Given the description of an element on the screen output the (x, y) to click on. 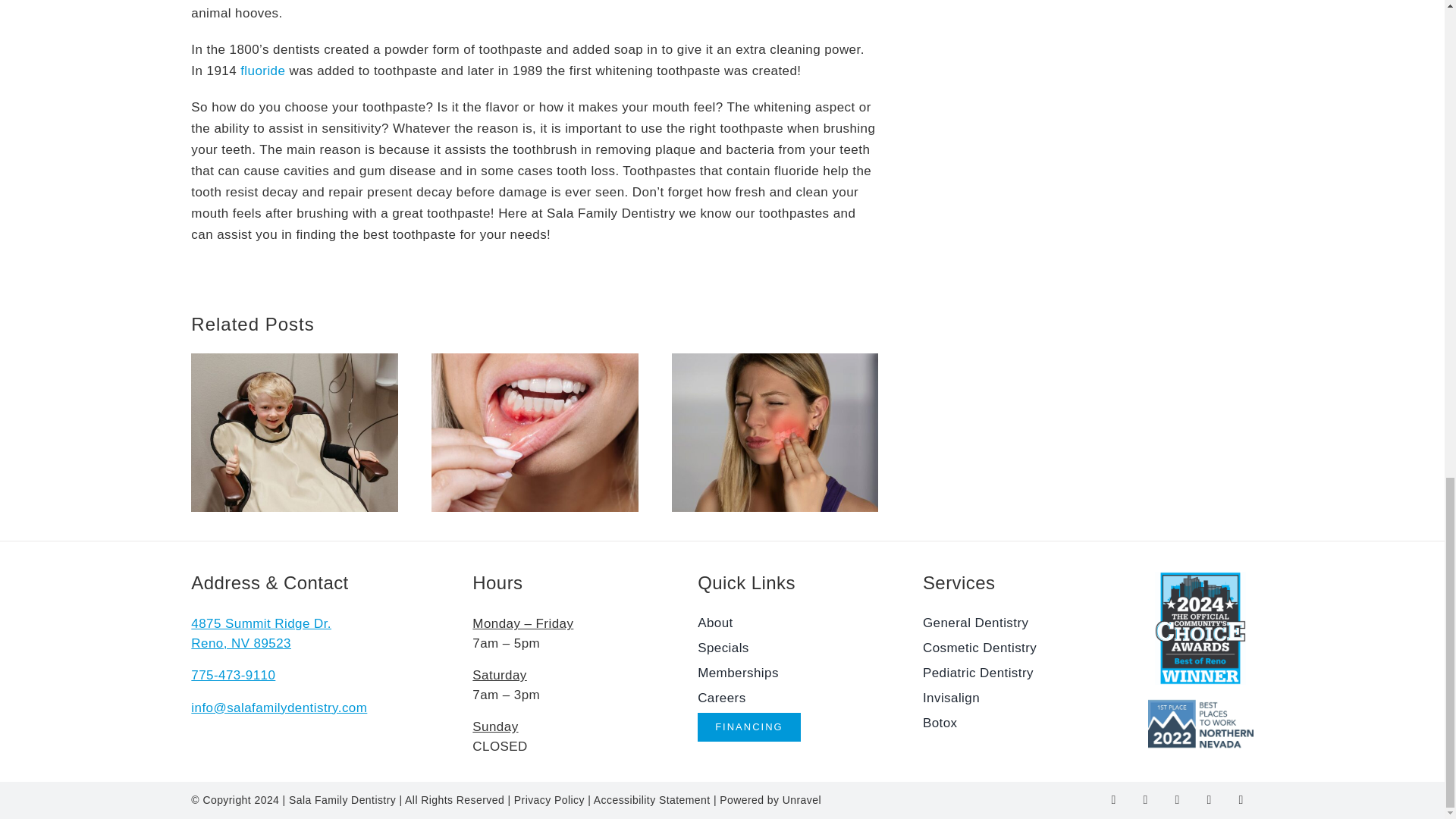
Instagram (1145, 799)
best places to work winner (1200, 723)
Facebook (1113, 799)
LinkedIn (1177, 799)
